Given the description of an element on the screen output the (x, y) to click on. 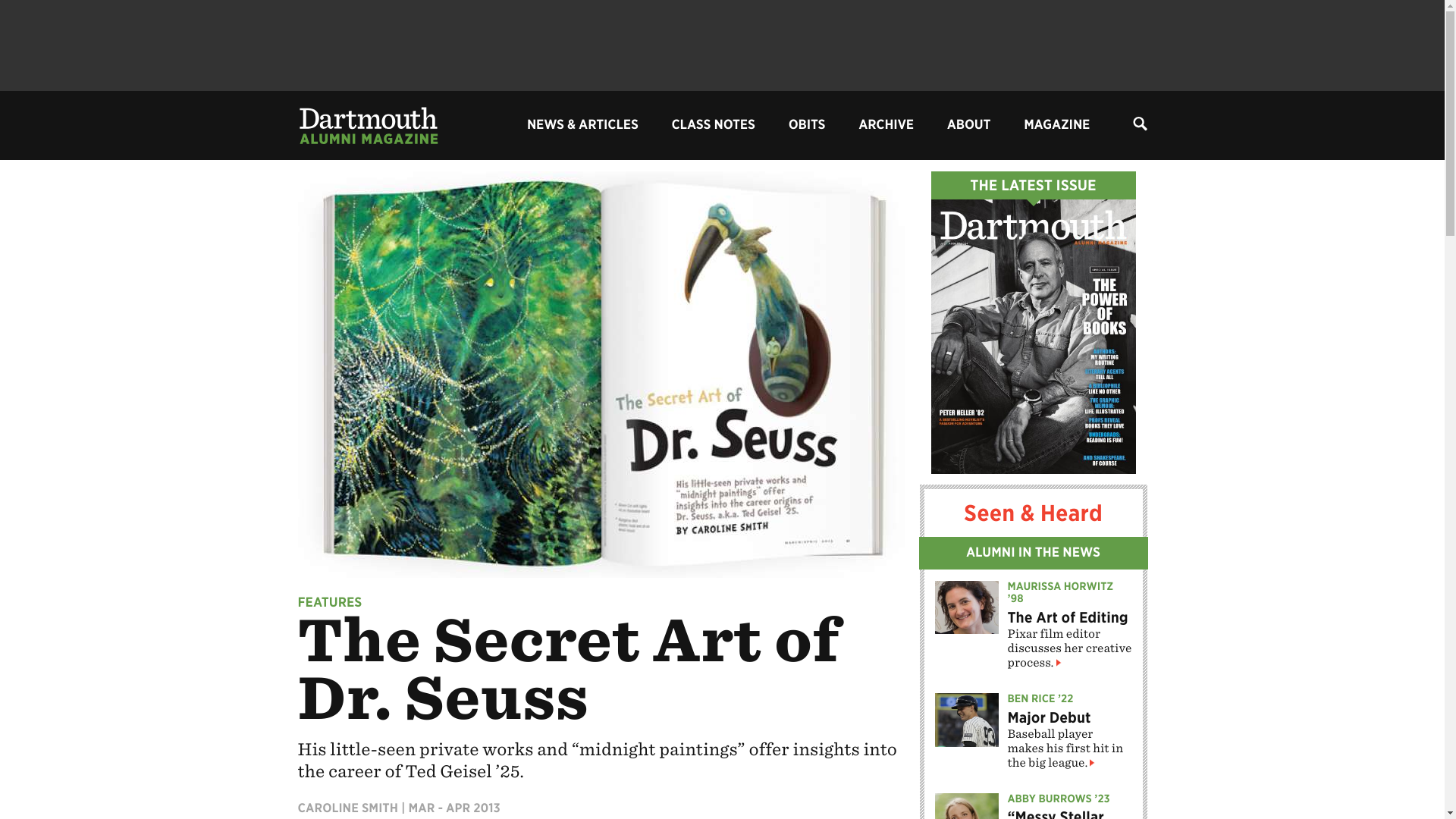
CLASS NOTES (713, 124)
ABOUT (969, 124)
Home (367, 124)
3rd party ad content (721, 45)
OBITS (807, 124)
ARCHIVE (886, 124)
